Given the description of an element on the screen output the (x, y) to click on. 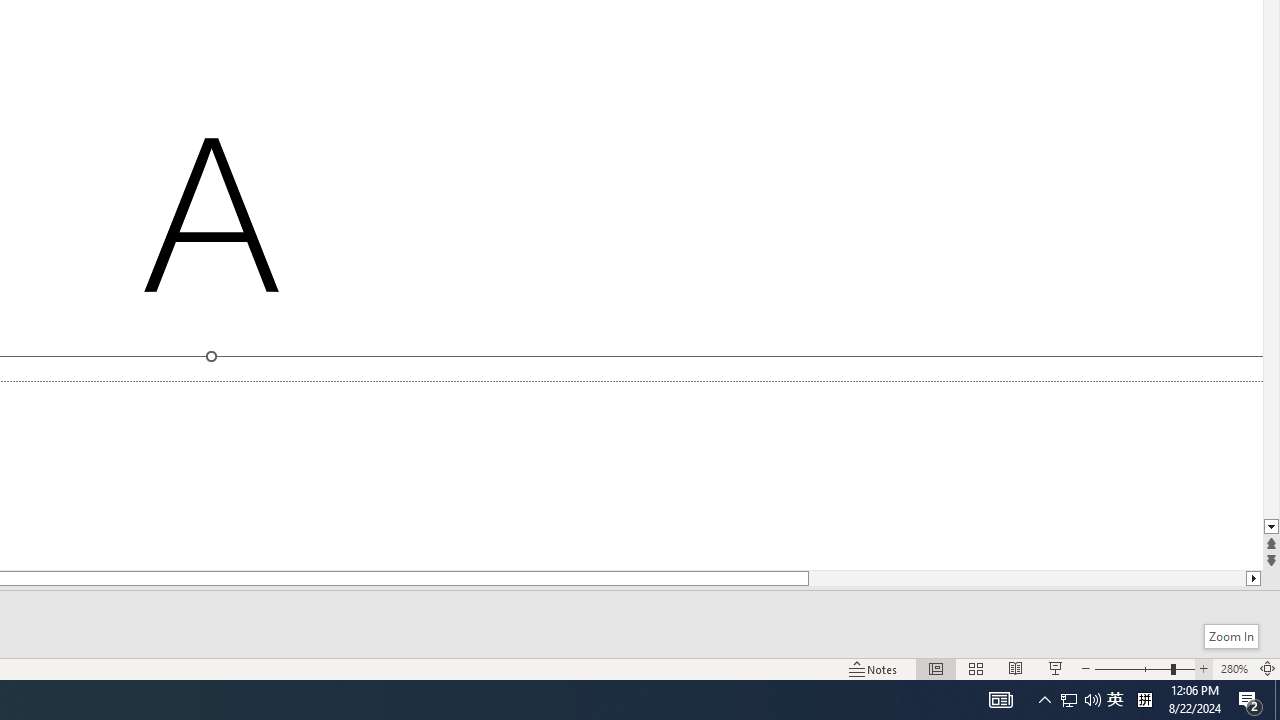
Zoom 280% (1234, 668)
